Given the description of an element on the screen output the (x, y) to click on. 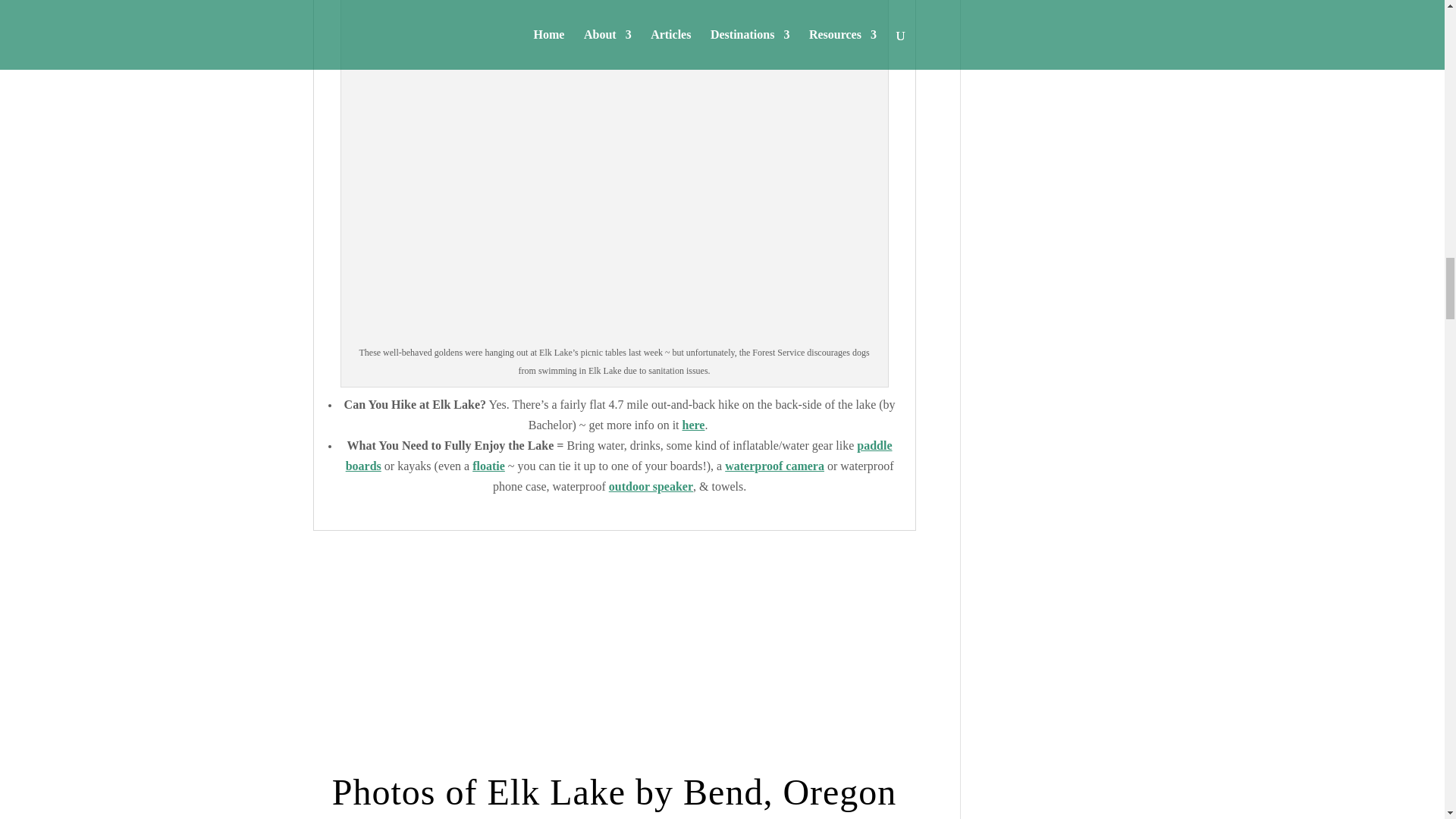
floatie (488, 465)
waterproof camera (774, 465)
outdoor speaker (650, 486)
paddle boards (619, 455)
here (693, 424)
